Given the description of an element on the screen output the (x, y) to click on. 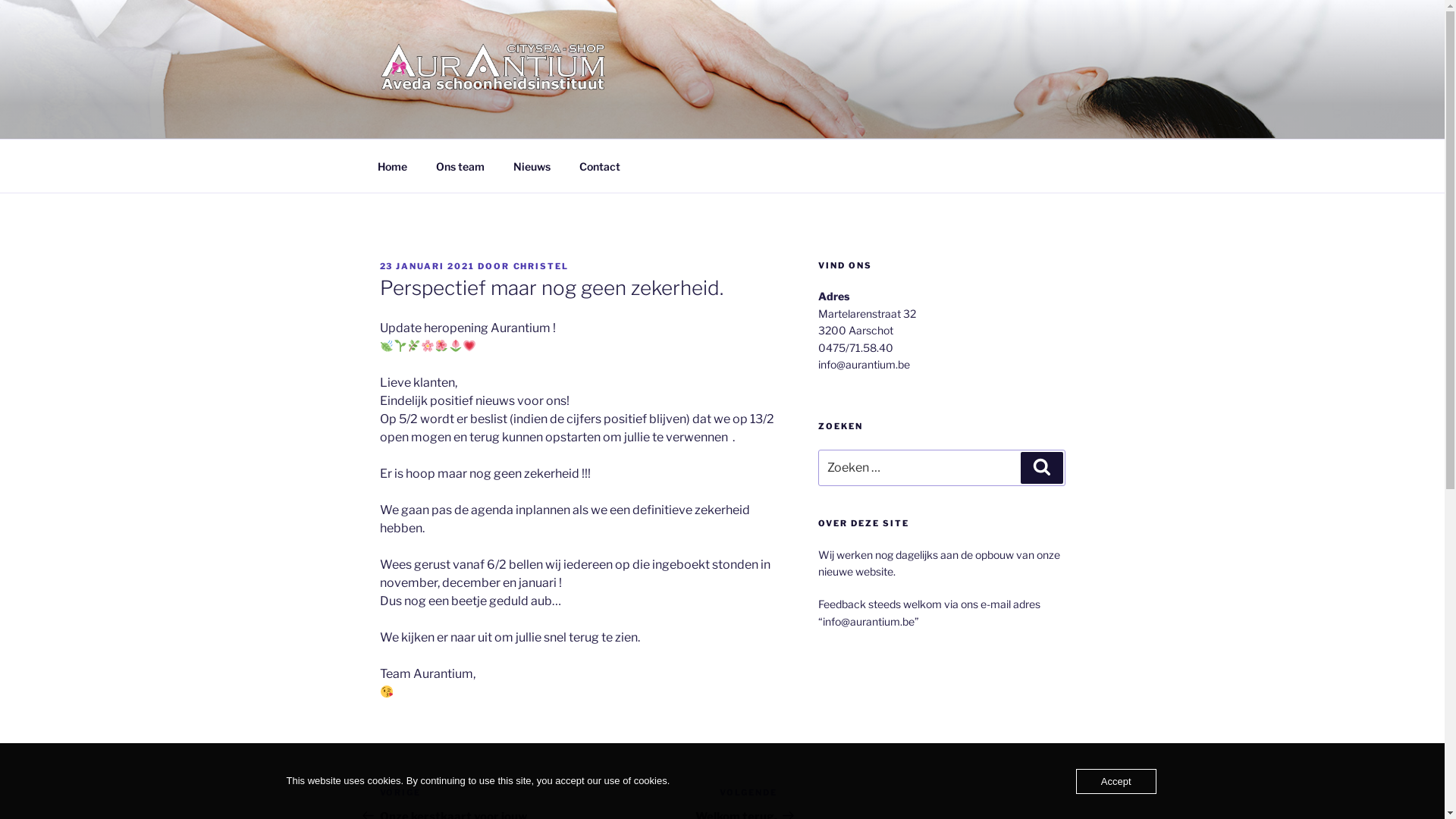
Home Element type: text (392, 165)
Contact Element type: text (599, 165)
Accept Element type: text (1116, 780)
Ons team Element type: text (460, 165)
23 JANUARI 2021 Element type: text (426, 265)
CHRISTEL Element type: text (540, 265)
Zoeken Element type: text (1041, 467)
Nieuws Element type: text (532, 165)
Naar de inhoud springen Element type: text (0, 0)
